Given the description of an element on the screen output the (x, y) to click on. 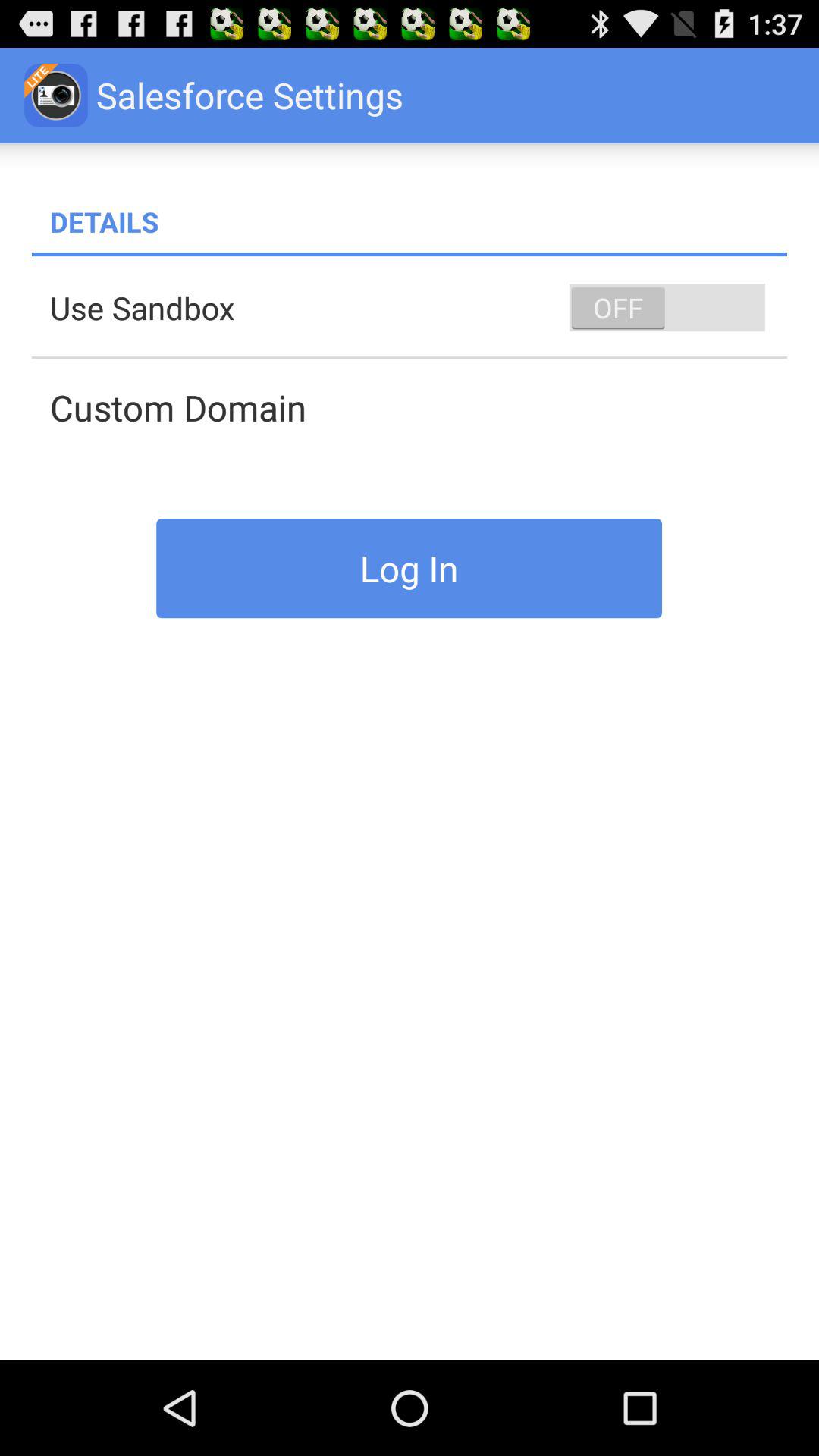
open icon at the top right corner (666, 307)
